Given the description of an element on the screen output the (x, y) to click on. 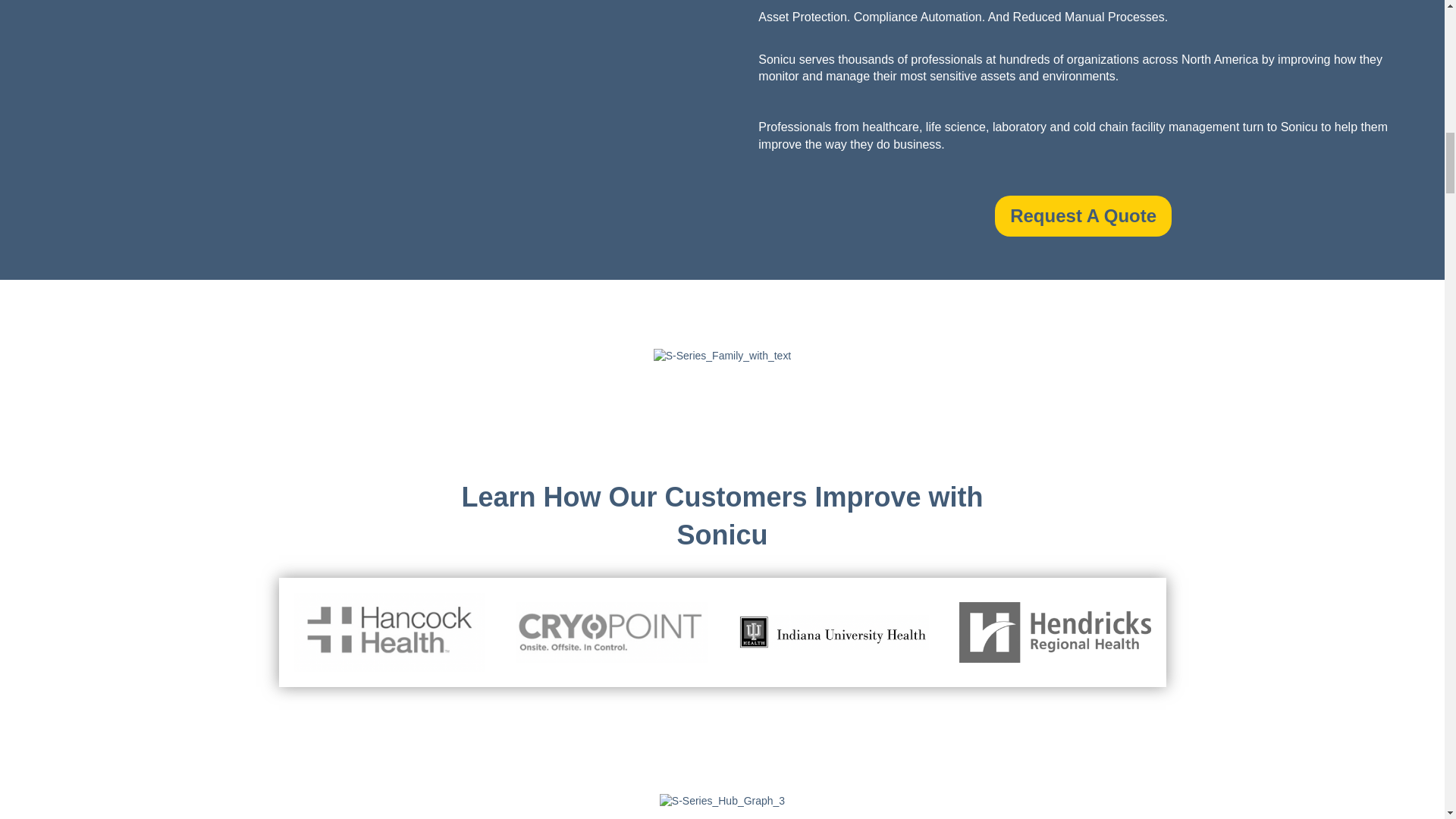
YouTube video player (360, 125)
